Given the description of an element on the screen output the (x, y) to click on. 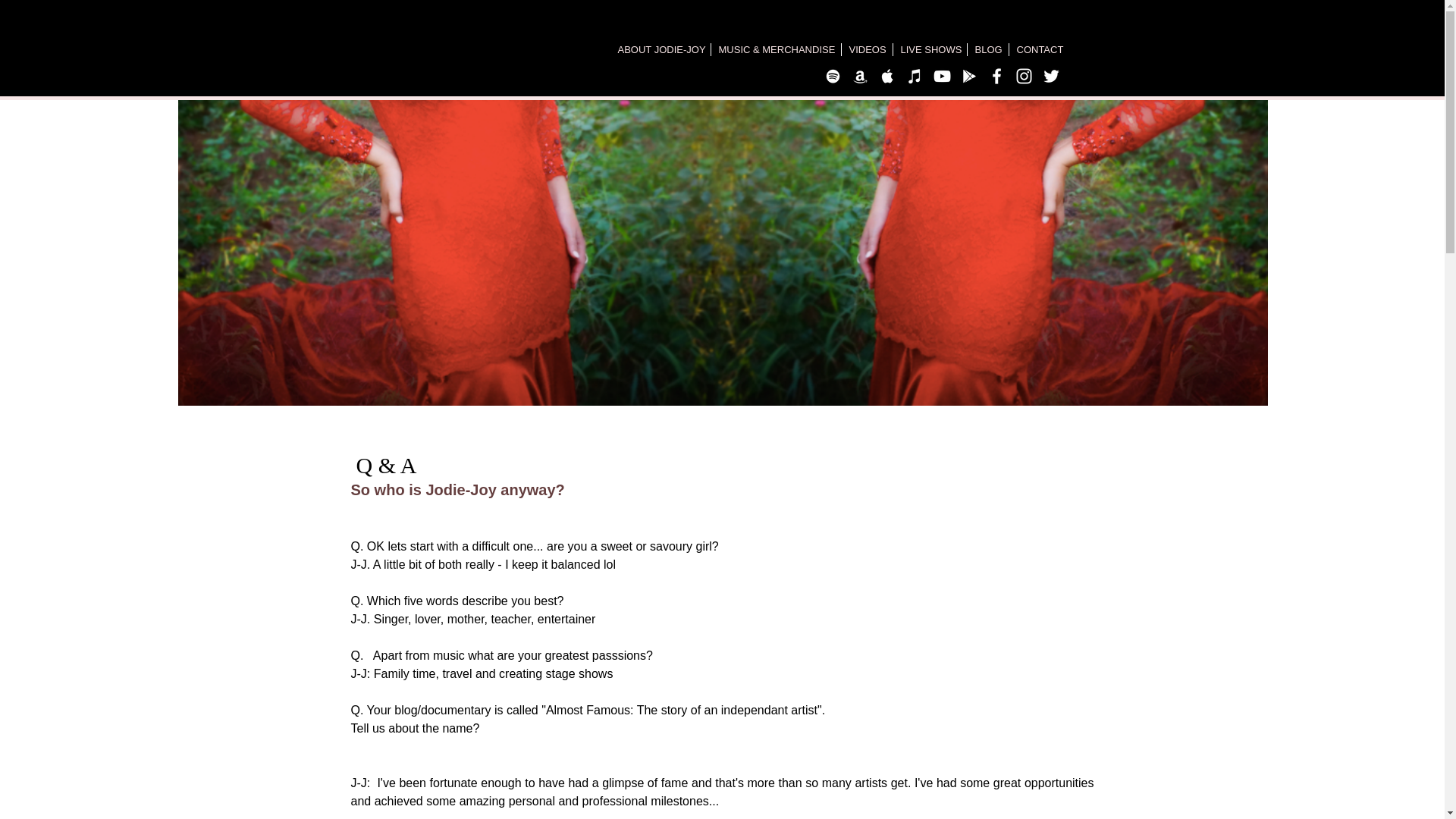
VIDEOS (866, 49)
LIVE SHOWS (929, 49)
BLOG (988, 49)
CONTACT (1039, 49)
ABOUT JODIE-JOY (660, 49)
